Given the description of an element on the screen output the (x, y) to click on. 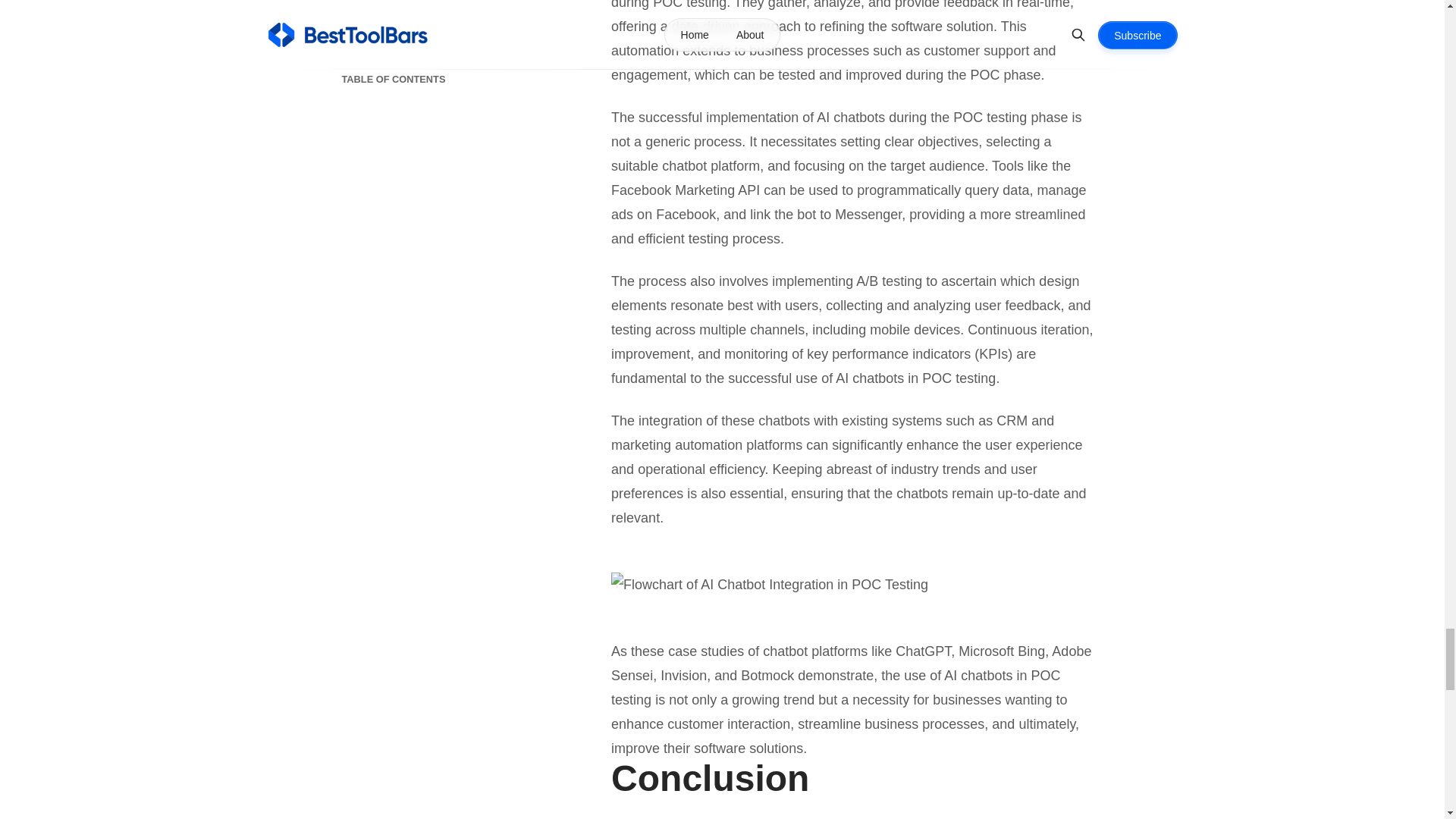
Flowchart of AI Chatbot Integration in POC Testing (852, 584)
